Given the description of an element on the screen output the (x, y) to click on. 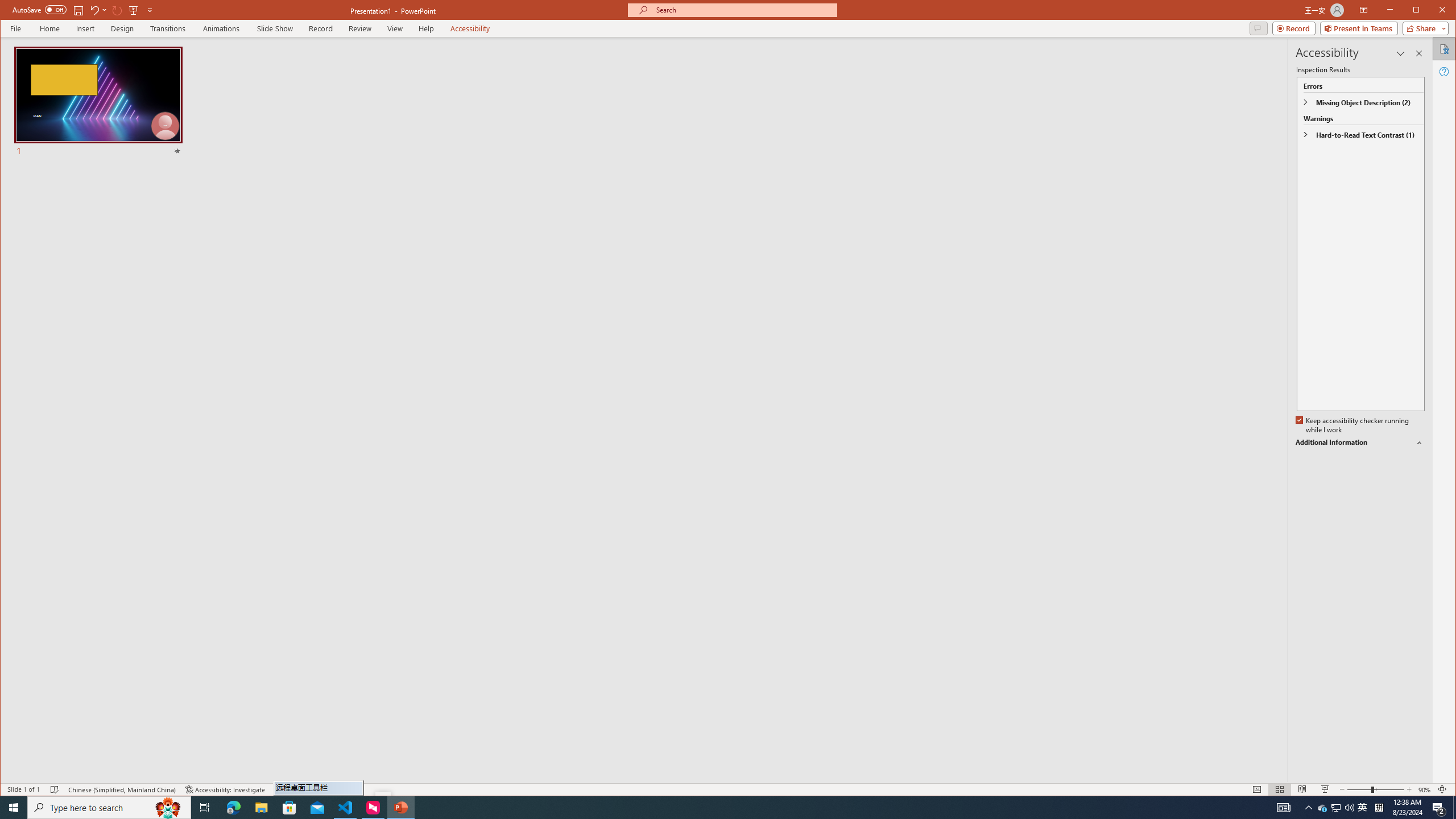
Show desktop (1454, 807)
Zoom to Fit  (1441, 789)
Customize Quick Access Toolbar (150, 9)
Design (1362, 807)
From Beginning (122, 28)
System (133, 9)
Normal (10, 10)
Task Pane Options (1256, 789)
Review (1400, 53)
Home (360, 28)
Search highlights icon opens search home window (49, 28)
Zoom 90% (167, 807)
Accessibility Checker Accessibility: Investigate (1424, 789)
Minimize (225, 789)
